Given the description of an element on the screen output the (x, y) to click on. 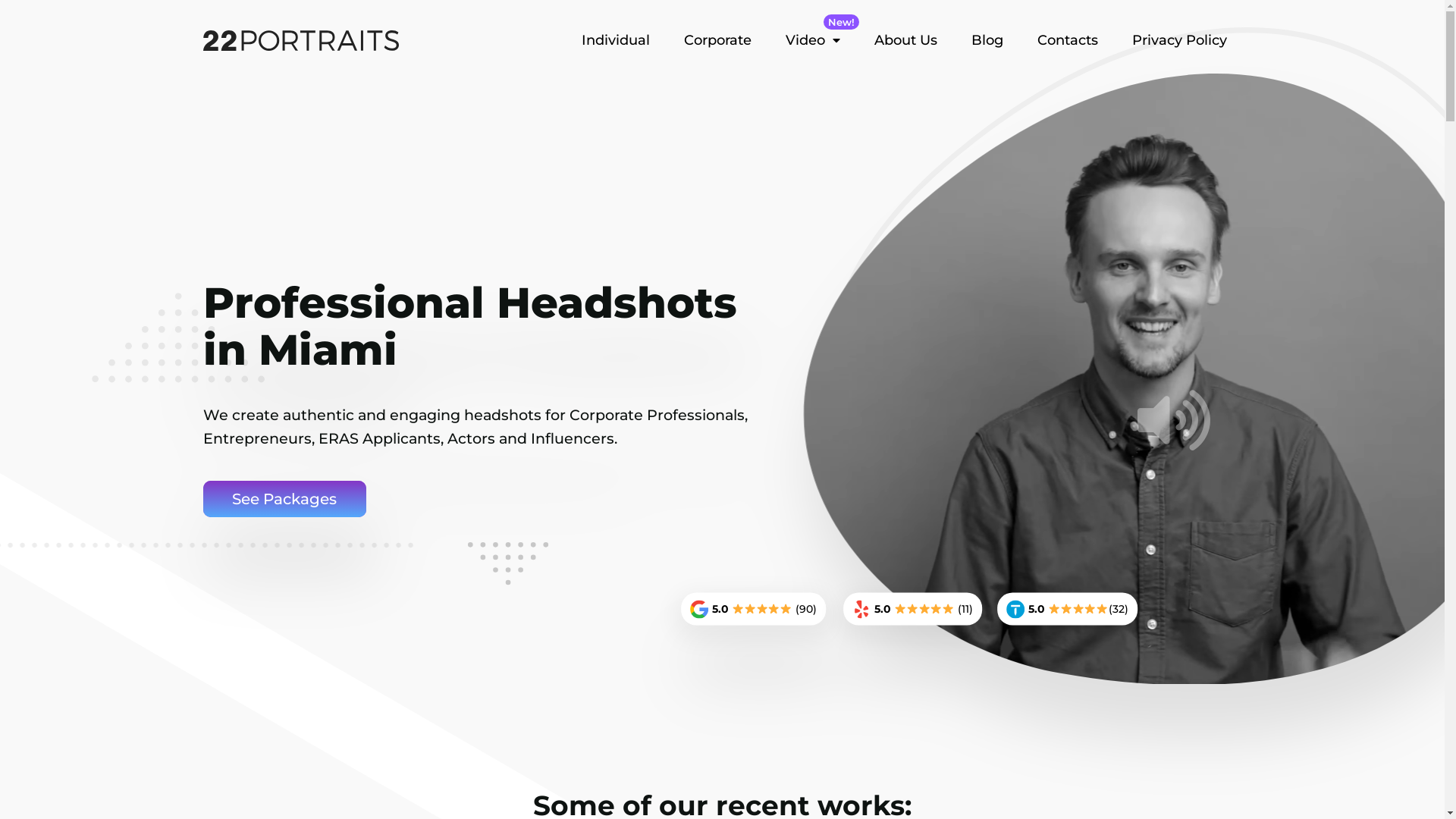
Blog Element type: text (986, 39)
5.0 (90) Element type: text (753, 609)
Corporate Element type: text (717, 39)
Privacy Policy Element type: text (1178, 39)
See Packages Element type: text (284, 498)
Individual Element type: text (614, 39)
New!
Video Element type: text (812, 39)
5.0 (32) Element type: text (1067, 609)
About Us Element type: text (904, 39)
5.0 (11) Element type: text (912, 609)
Contacts Element type: text (1067, 39)
